Given the description of an element on the screen output the (x, y) to click on. 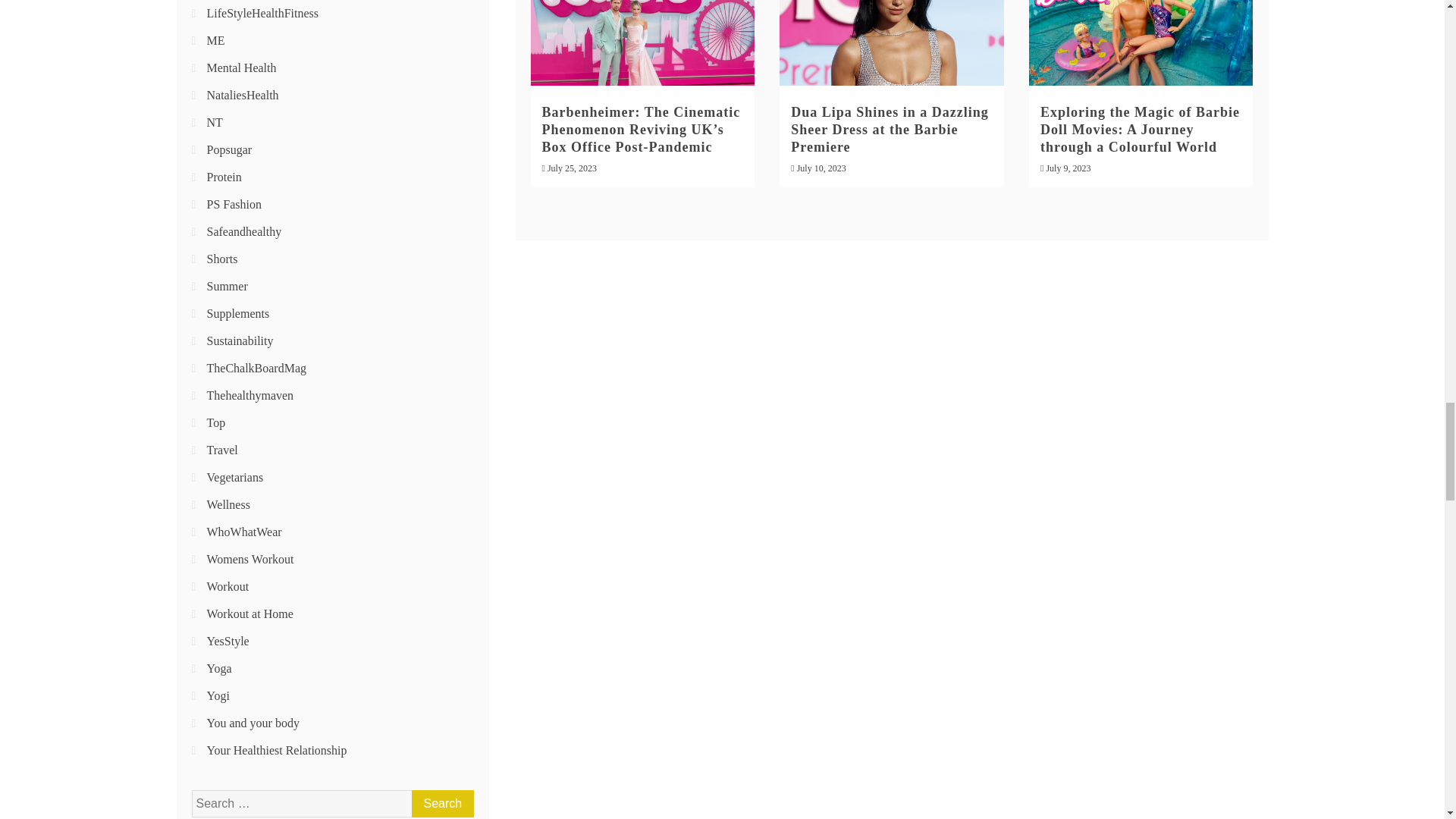
Search (441, 803)
Search (441, 803)
